Given the description of an element on the screen output the (x, y) to click on. 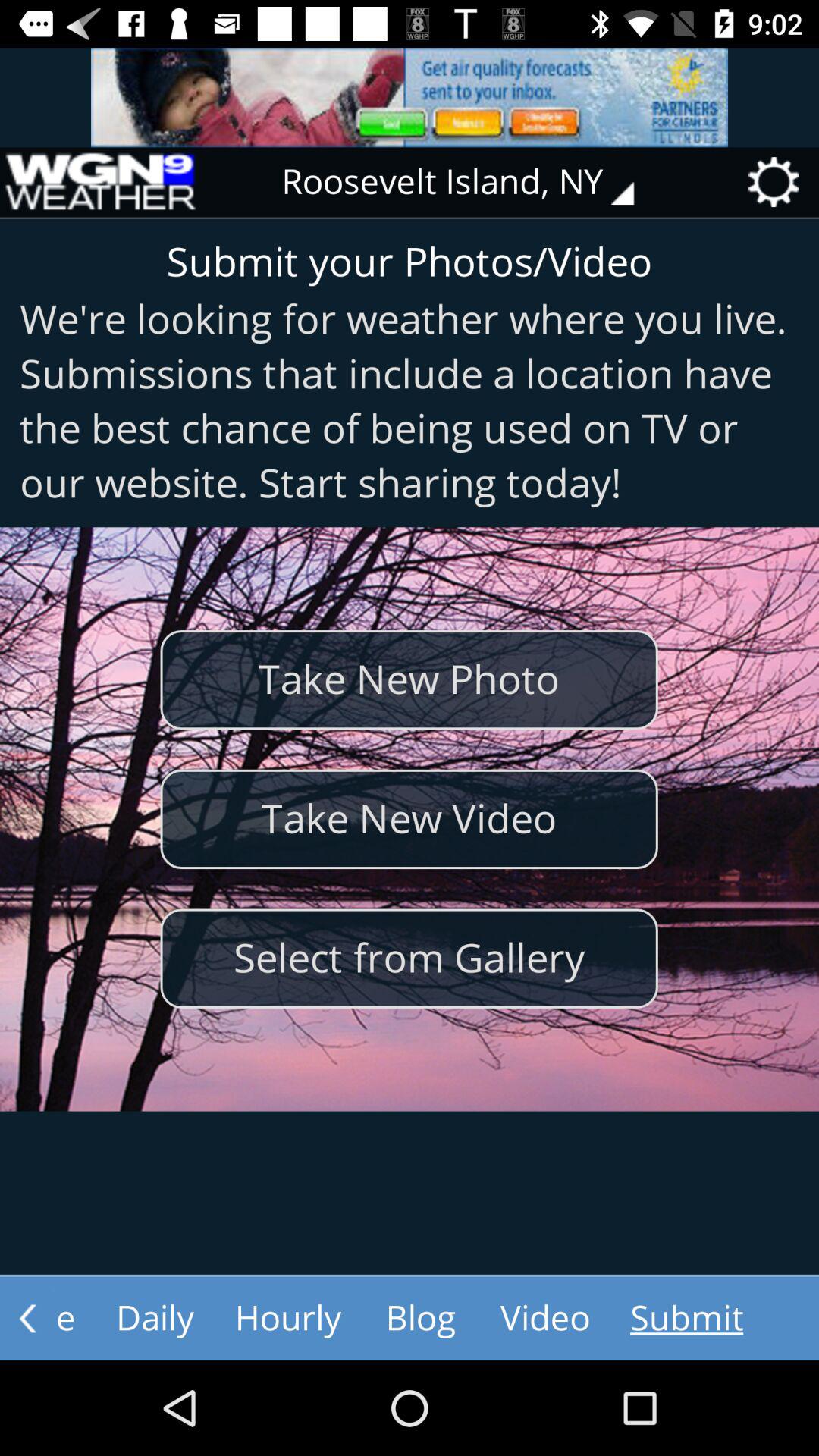
go back (27, 1318)
